Given the description of an element on the screen output the (x, y) to click on. 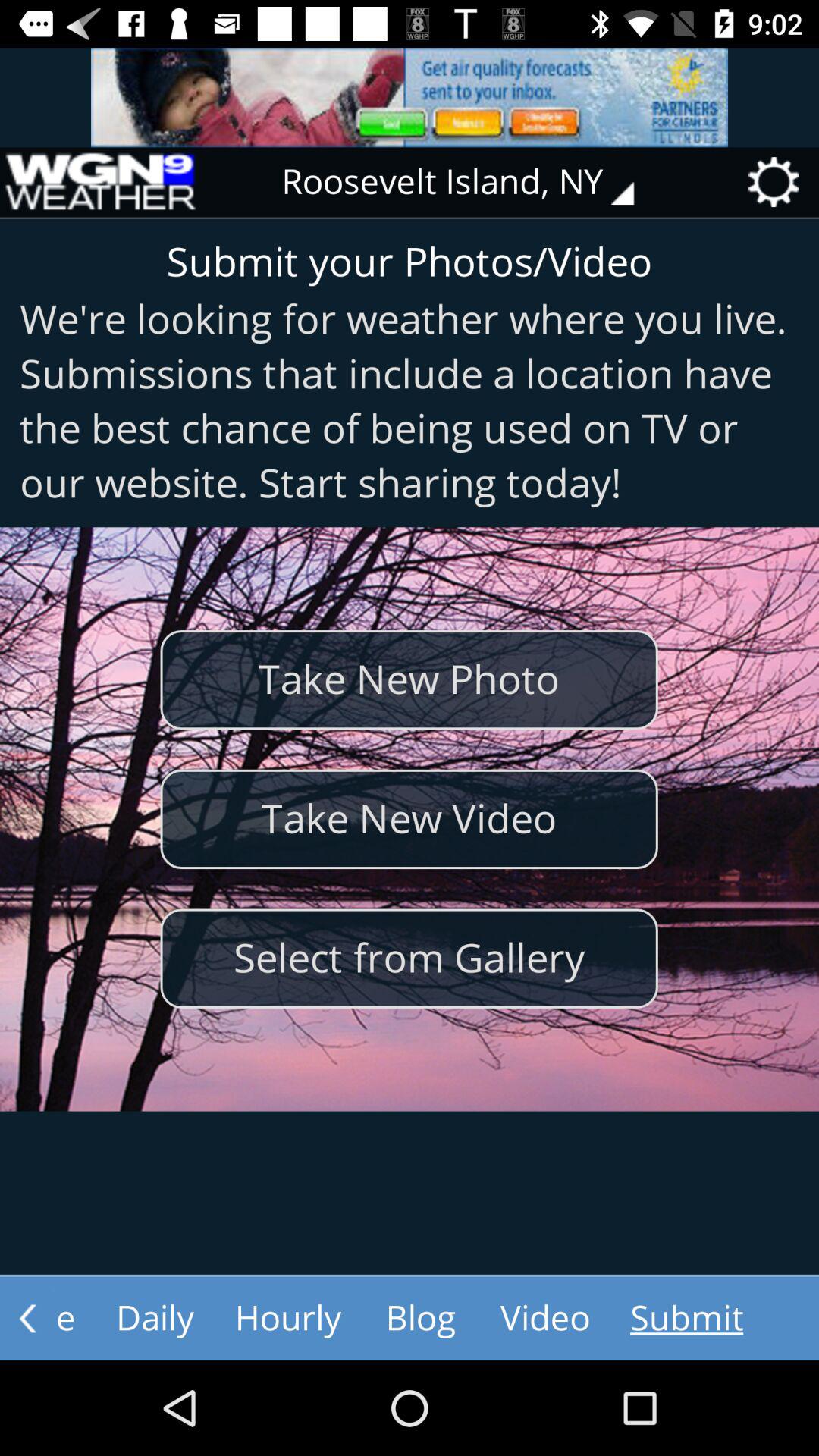
go back (27, 1318)
